Given the description of an element on the screen output the (x, y) to click on. 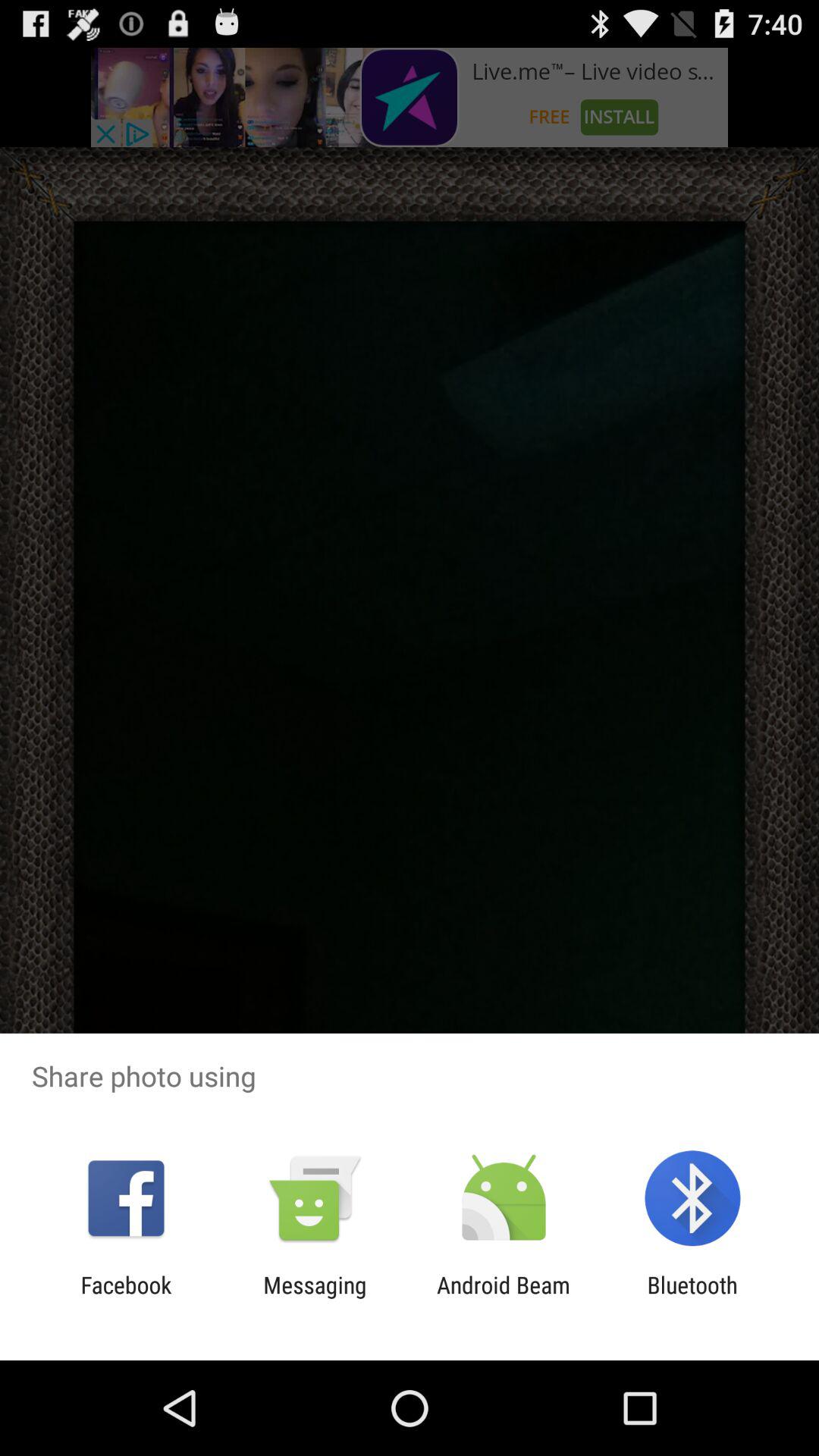
choose the icon to the right of messaging (503, 1298)
